Given the description of an element on the screen output the (x, y) to click on. 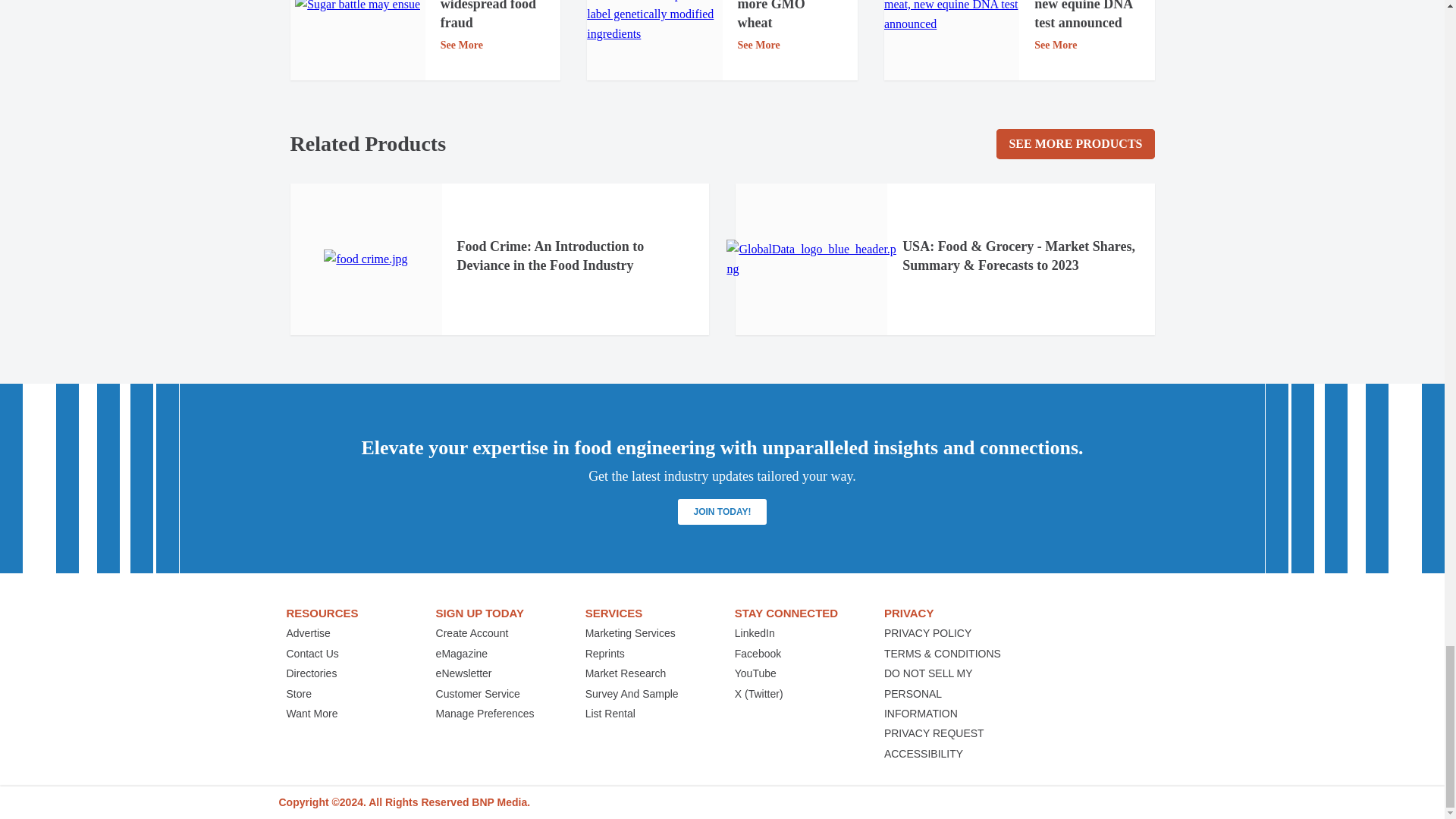
breakingnewsbigouterglow.jpg (357, 7)
groundbeef.jpg (951, 17)
food crime.jpg (365, 259)
